Given the description of an element on the screen output the (x, y) to click on. 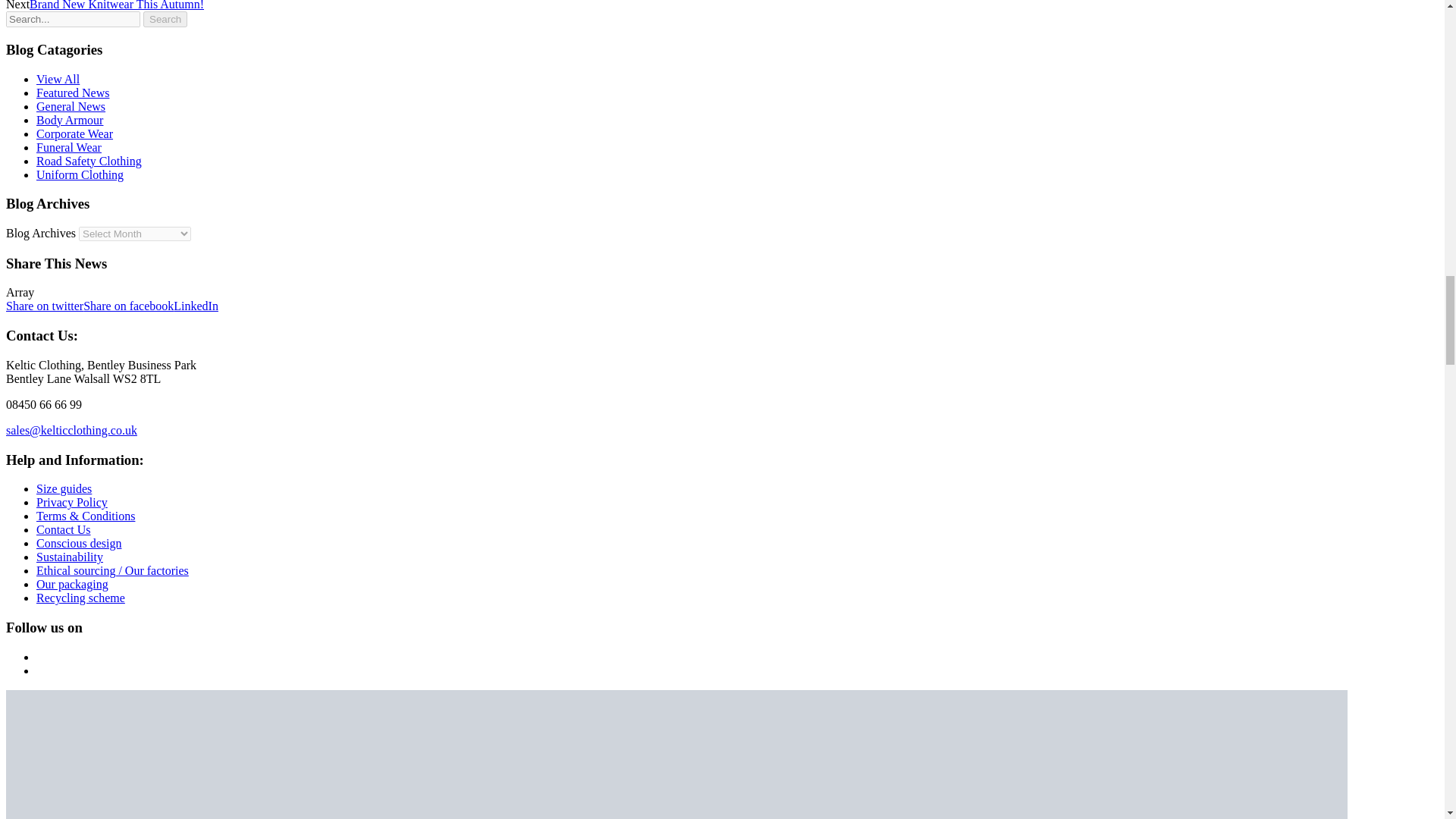
Road Safety Clothing (88, 160)
Uniform Clothing (79, 174)
View All (58, 78)
Featured News (72, 92)
Corporate Wear  (74, 133)
Search (164, 19)
Search (164, 19)
Body Armour (69, 119)
Search for: (72, 19)
General News (70, 106)
Funeral Wear  (68, 146)
